Given the description of an element on the screen output the (x, y) to click on. 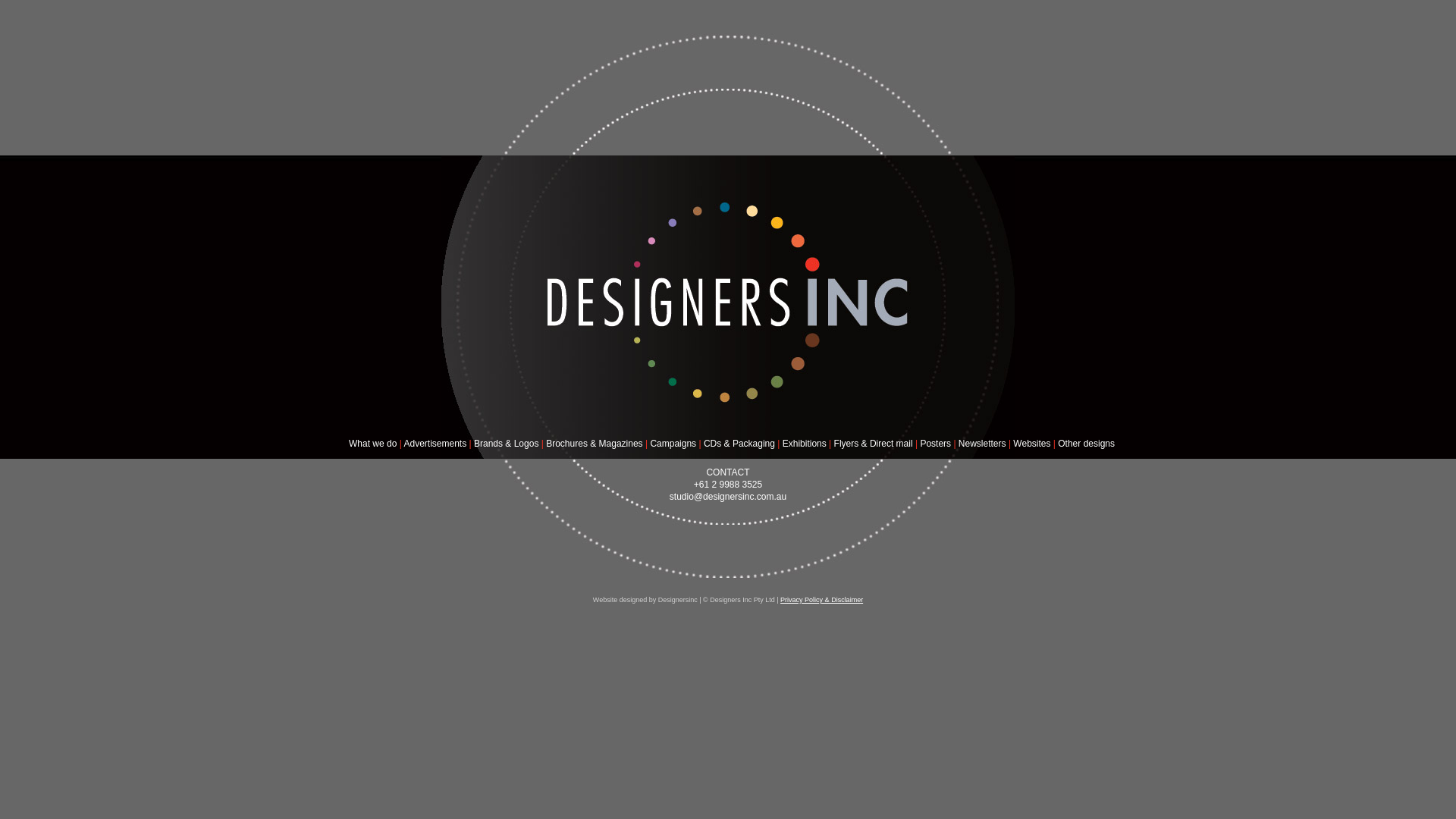
Exhibitions Element type: text (804, 443)
Websites Element type: text (1031, 443)
Campaigns Element type: text (672, 443)
Privacy Policy & Disclaimer Element type: text (821, 599)
studio@designersinc.com.au Element type: text (727, 496)
Other designs Element type: text (1085, 443)
Newsletters Element type: text (982, 443)
Brands & Logos Element type: text (505, 443)
CDs & Packaging Element type: text (739, 443)
Posters Element type: text (934, 443)
Advertisements Element type: text (434, 443)
Brochures & Magazines Element type: text (594, 443)
What we do Element type: text (372, 443)
Flyers & Direct mail Element type: text (873, 443)
